Given the description of an element on the screen output the (x, y) to click on. 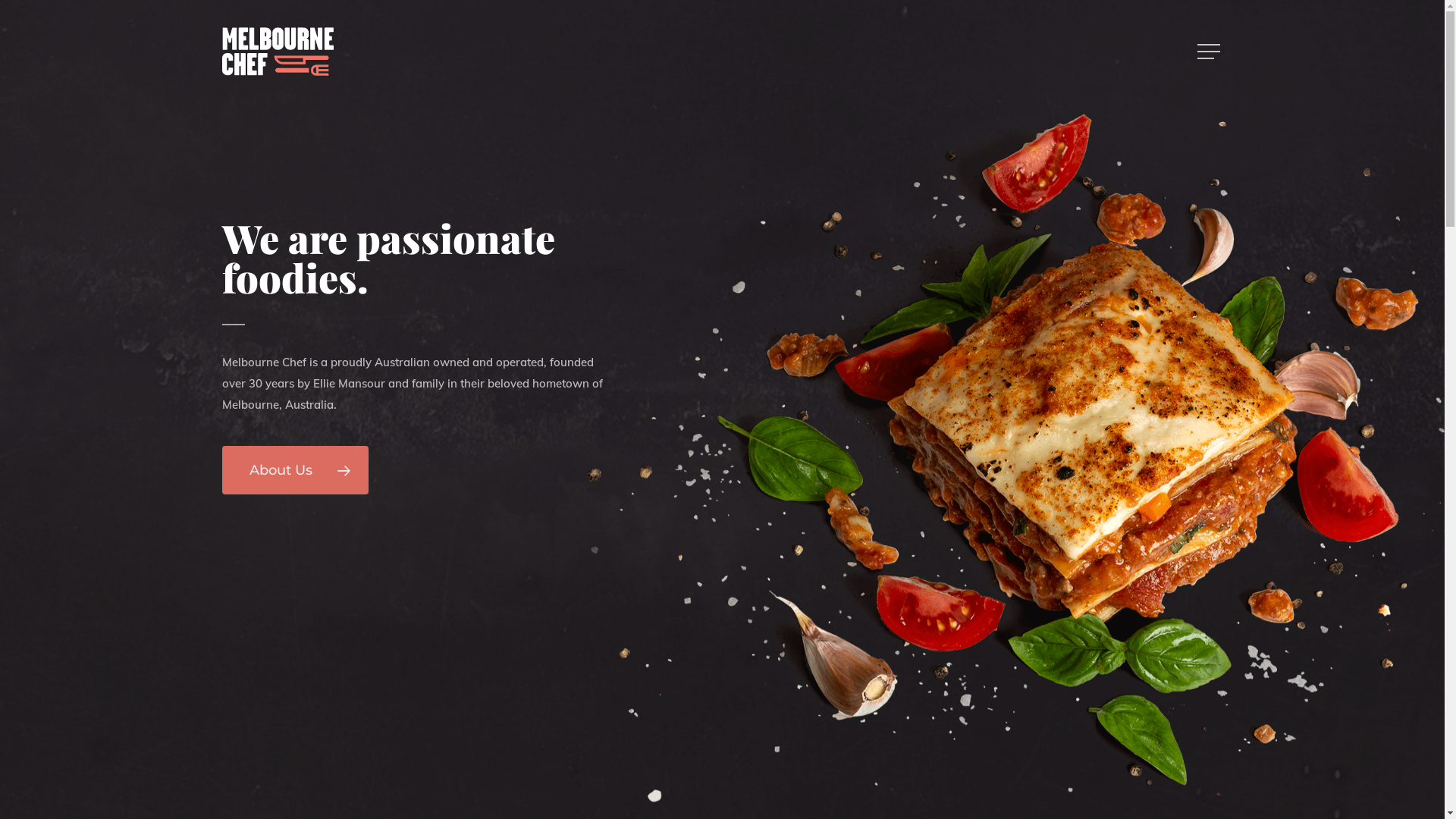
About Us Element type: text (689, 617)
reception@melbournechef.com.au Element type: text (1117, 635)
Contact Us Element type: text (689, 635)
About Us Element type: text (294, 469)
Our Products Element type: text (689, 671)
29-33 Barrett Street,
Kensington Victoria 3031 Element type: text (869, 626)
+61 3 9376 3333 Element type: text (1075, 617)
New Business Element type: text (689, 653)
